Given the description of an element on the screen output the (x, y) to click on. 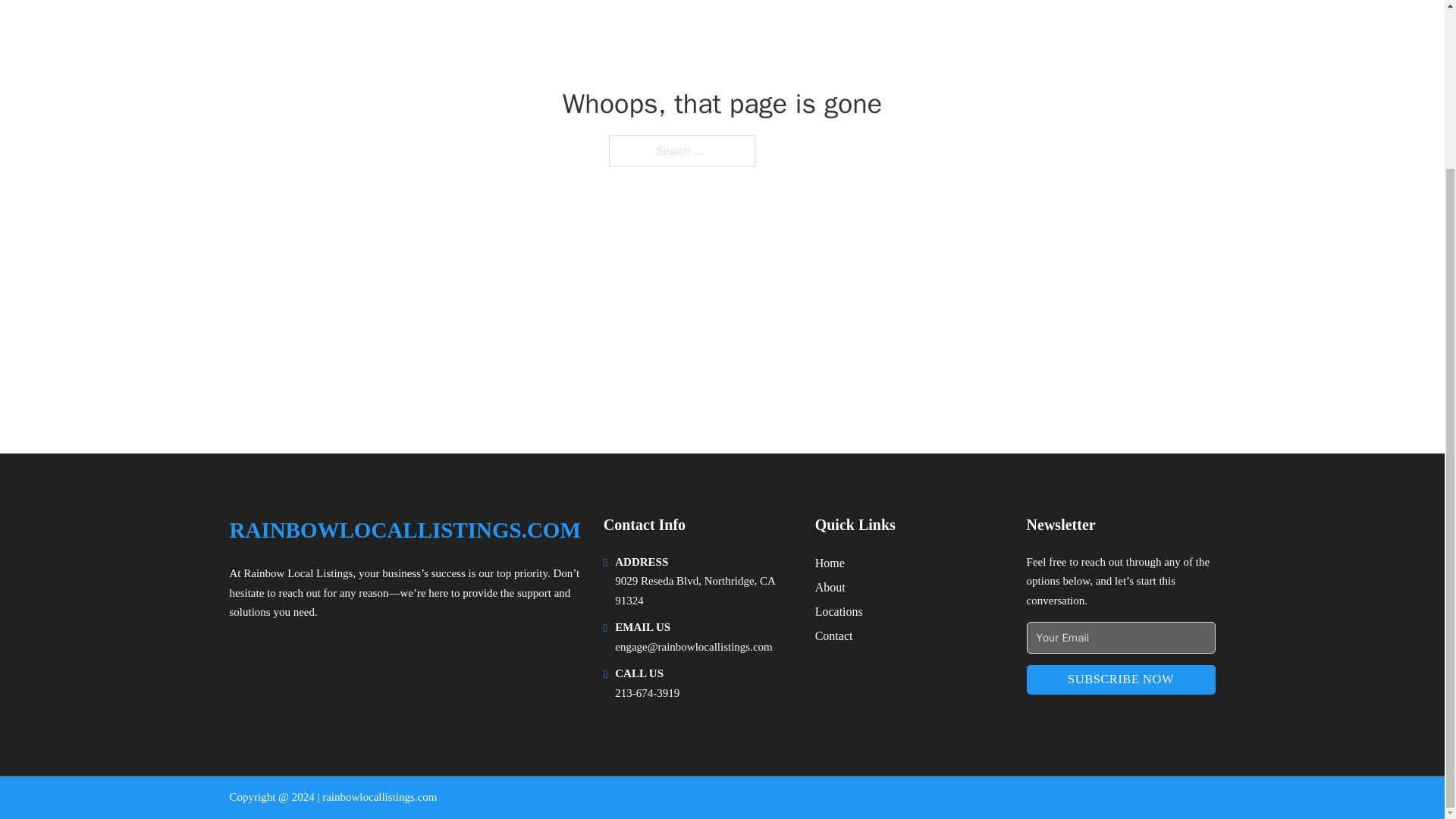
Locations (839, 611)
213-674-3919 (646, 693)
SUBSCRIBE NOW (1120, 679)
Home (829, 562)
RAINBOWLOCALLISTINGS.COM (403, 529)
Contact (834, 635)
About (830, 587)
